Given the description of an element on the screen output the (x, y) to click on. 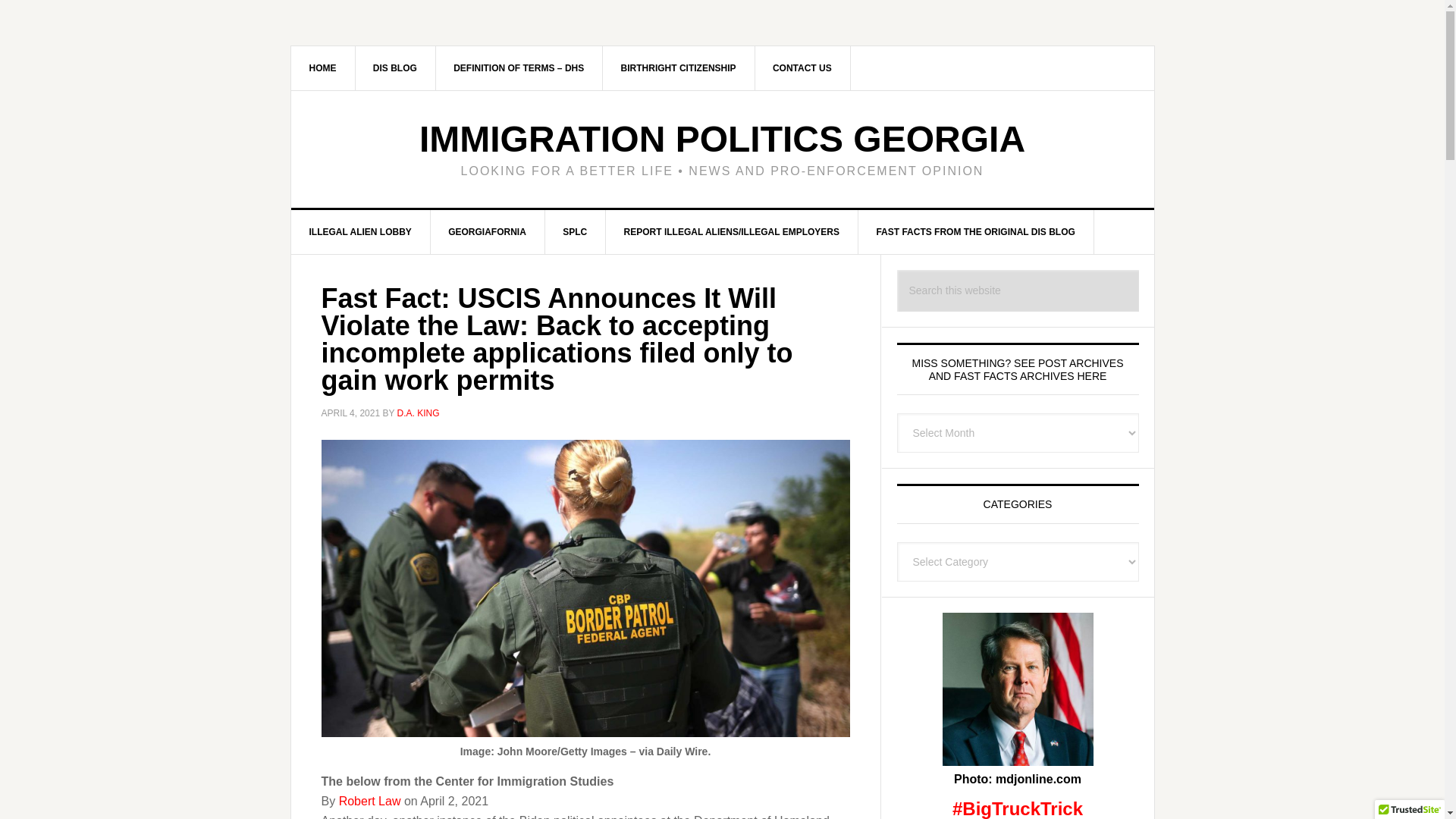
ILLEGAL ALIEN LOBBY (360, 231)
BIRTHRIGHT CITIZENSHIP (678, 67)
GEORGIAFORNIA (486, 231)
IMMIGRATION POLITICS GEORGIA (722, 138)
SPLC (574, 231)
D.A. KING (418, 412)
CONTACT US (802, 67)
FAST FACTS FROM THE ORIGINAL DIS BLOG (975, 231)
Robert Law (370, 800)
DIS BLOG (395, 67)
HOME (323, 67)
